Given the description of an element on the screen output the (x, y) to click on. 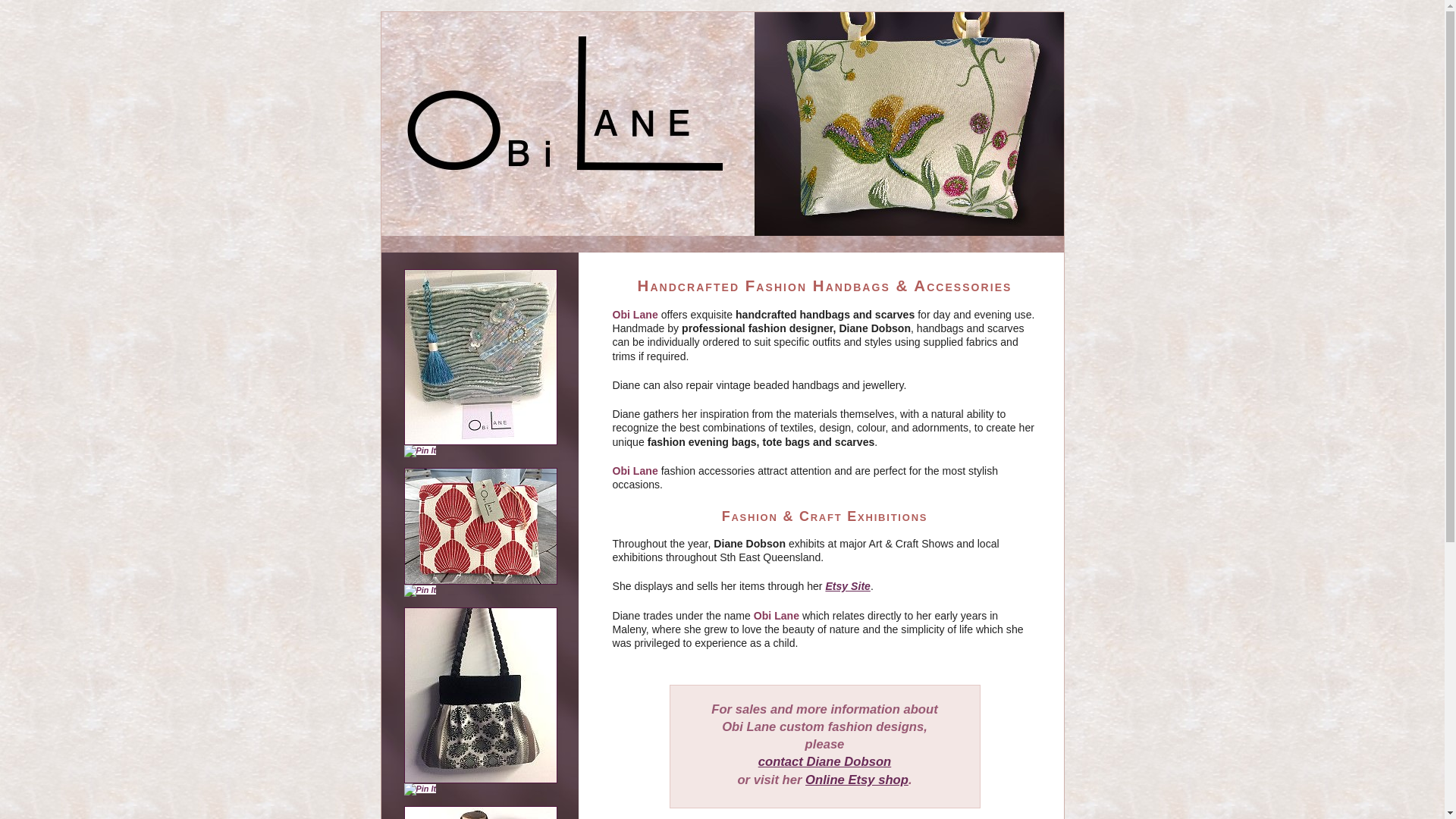
Pin It Element type: hover (419, 451)
Etsy Site Element type: text (847, 586)
contact Diane Dobson Element type: text (824, 761)
Online Etsy shop Element type: text (856, 779)
Pin It Element type: hover (419, 590)
Pin It Element type: hover (419, 789)
